Given the description of an element on the screen output the (x, y) to click on. 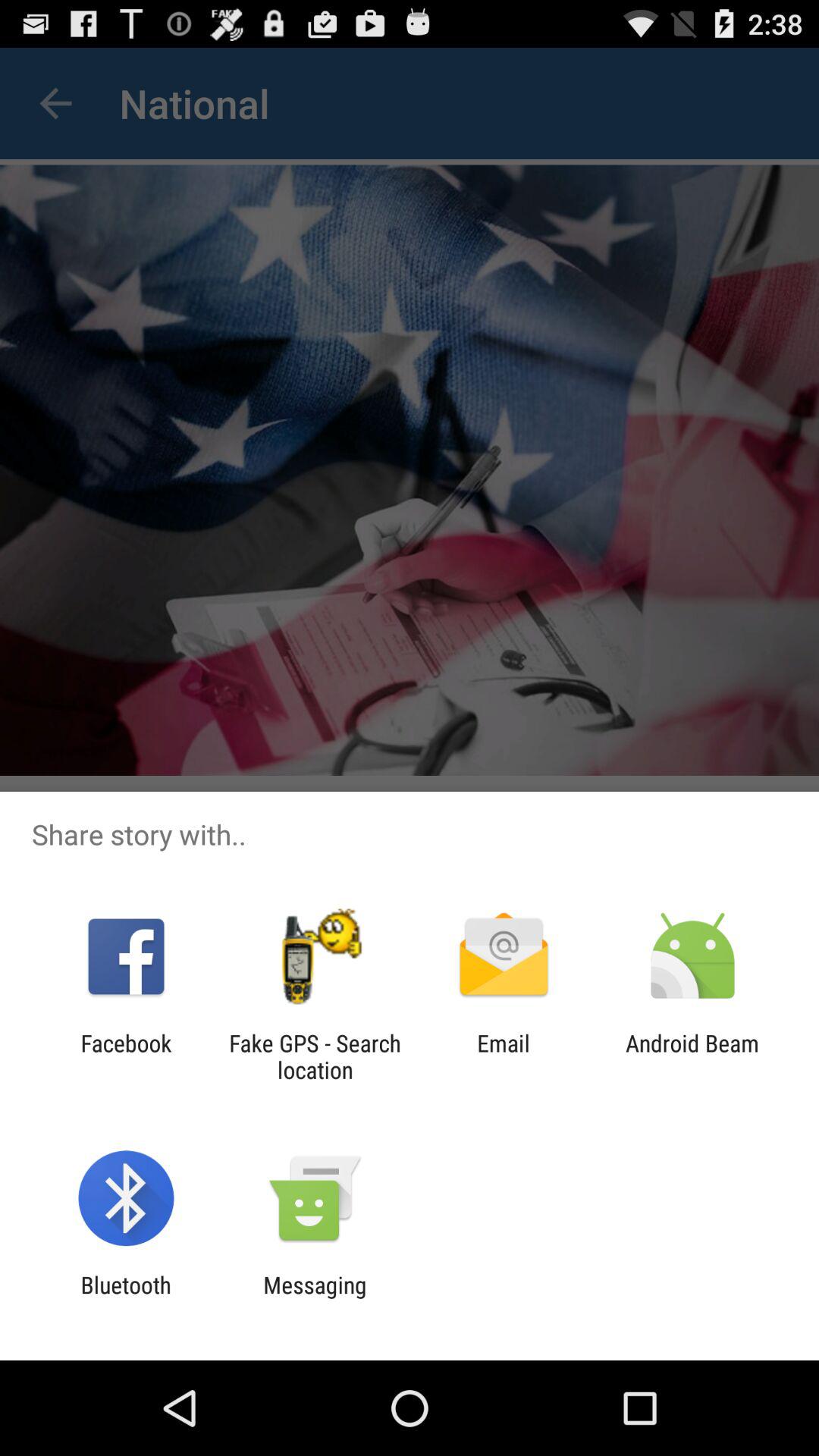
click the icon next to facebook icon (314, 1056)
